Given the description of an element on the screen output the (x, y) to click on. 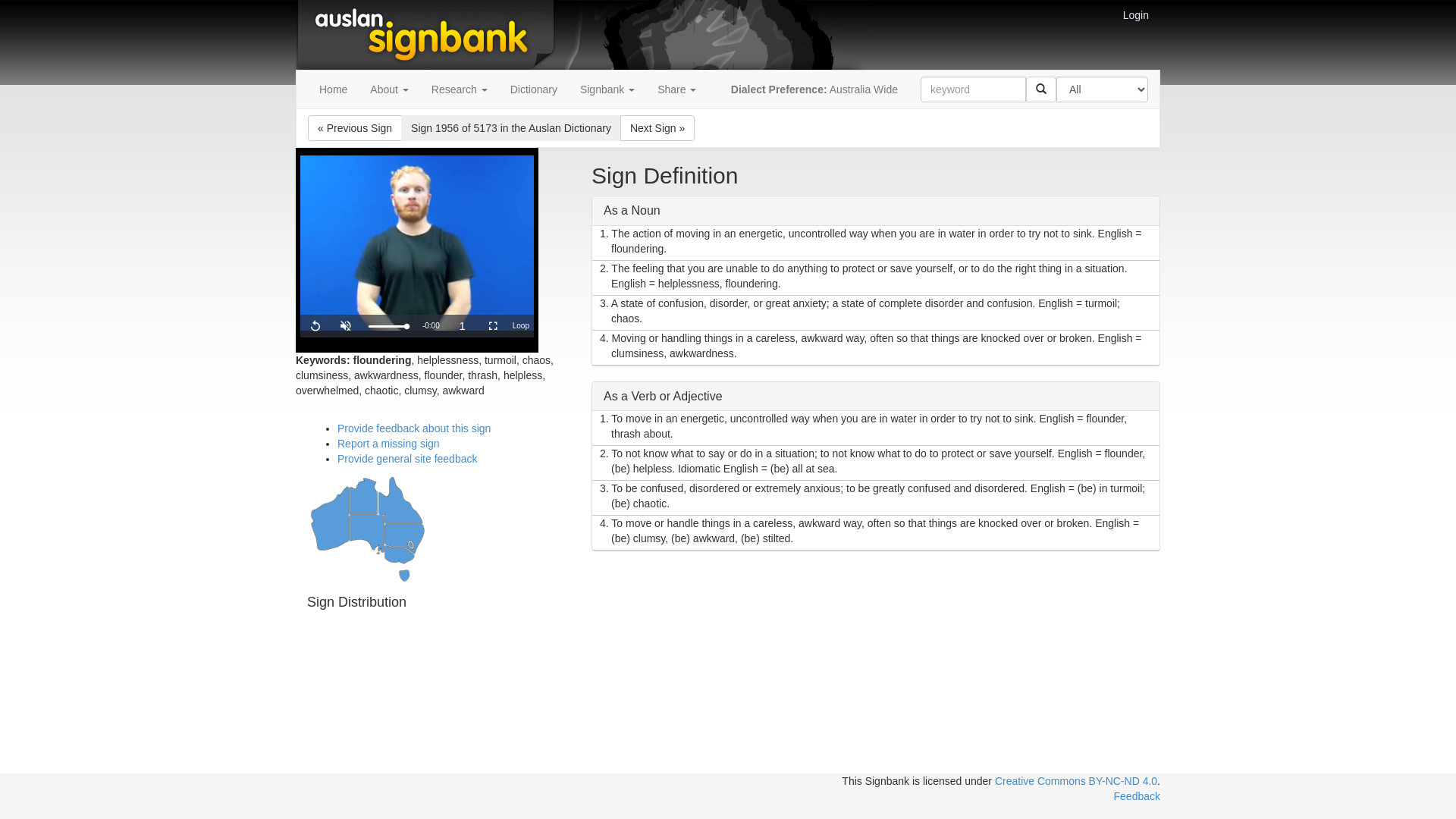
Playback Rate Element type: text (462, 320)
Report a missing sign Element type: text (388, 443)
Fullscreen Element type: text (492, 325)
Dictionary Element type: text (533, 89)
Share Element type: text (676, 89)
About Element type: text (388, 89)
Unmute Element type: text (345, 325)
Feedback Element type: text (1136, 796)
Sign 1956 of 5173 in the Auslan Dictionary Element type: text (511, 128)
Replay Element type: text (315, 325)
Signbank Element type: text (607, 89)
Home Element type: text (332, 89)
Login Element type: text (1135, 15)
Creative Commons BY-NC-ND 4.0 Element type: text (1075, 781)
Research Element type: text (459, 89)
Dialect Preference: Australia Wide Element type: text (814, 89)
Loop Element type: text (520, 325)
Provide feedback about this sign Element type: text (413, 428)
Provide general site feedback Element type: text (406, 458)
